Given the description of an element on the screen output the (x, y) to click on. 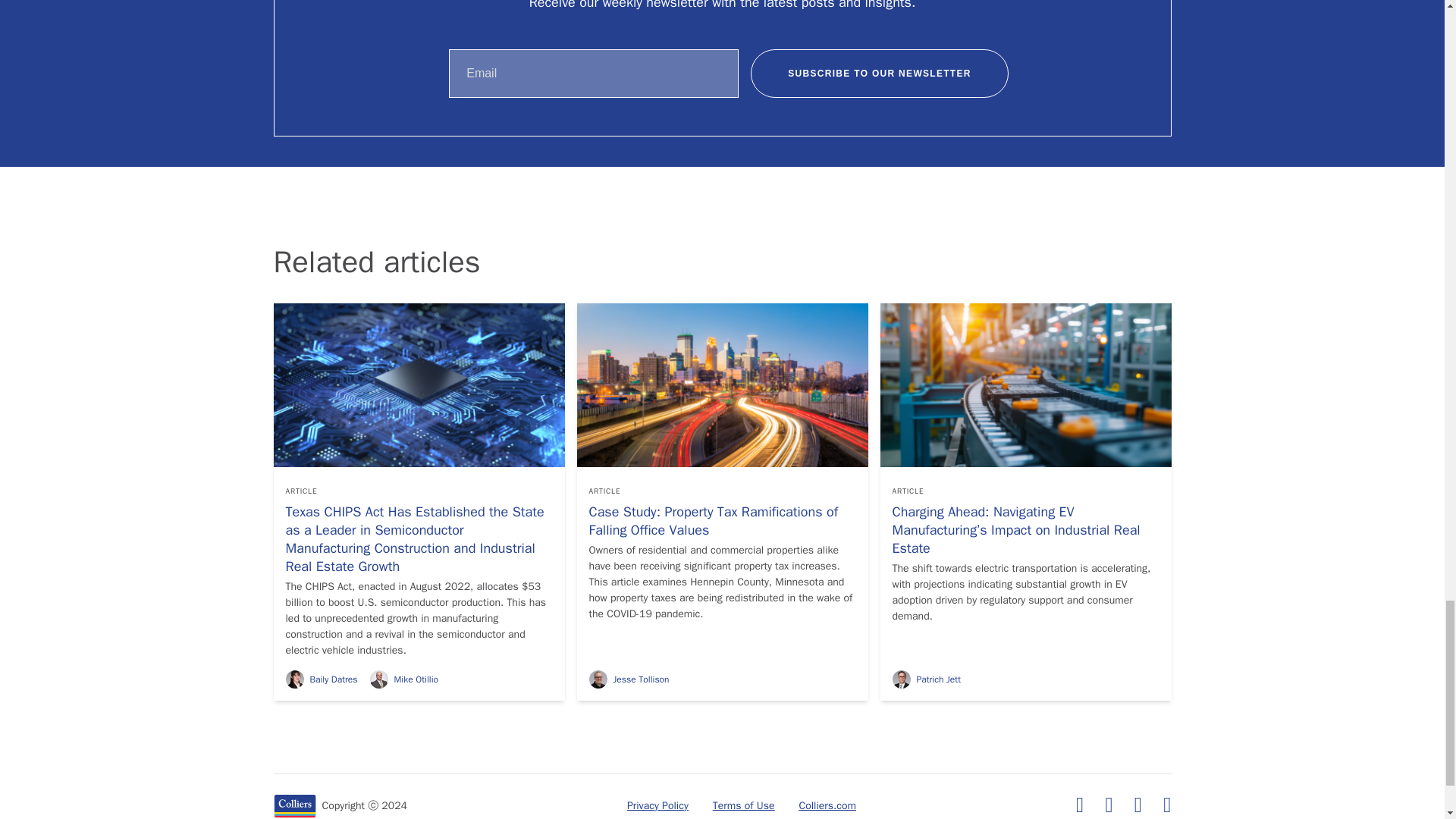
Mike Otillio (403, 679)
Patrich Jett (925, 679)
Jesse Tollison (628, 679)
Baily Datres (320, 679)
